Given the description of an element on the screen output the (x, y) to click on. 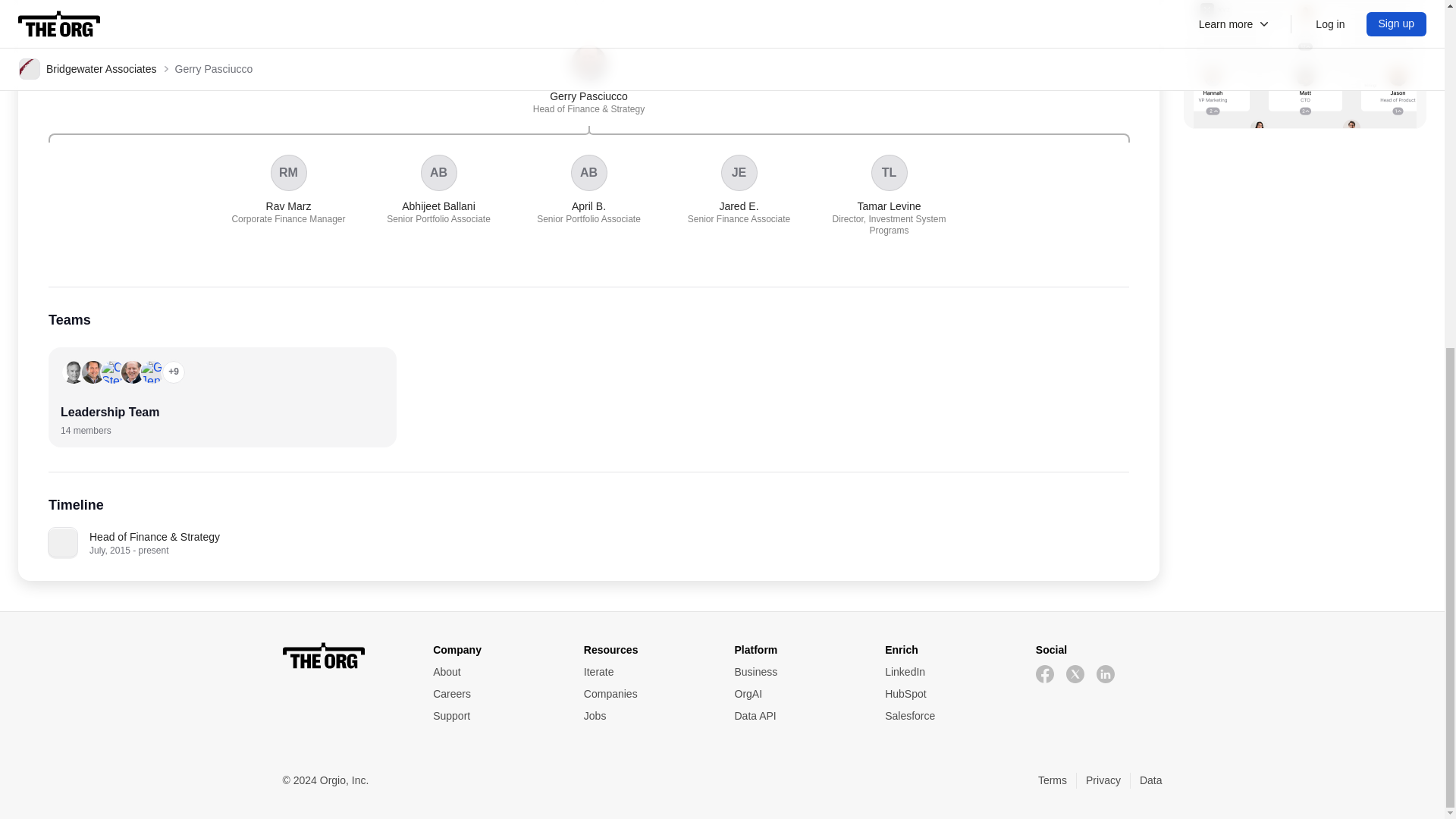
Terms (1052, 780)
Companies (646, 693)
About (495, 672)
Iterate (646, 672)
Salesforce (888, 195)
Jobs (948, 715)
The Org logo (287, 189)
